Given the description of an element on the screen output the (x, y) to click on. 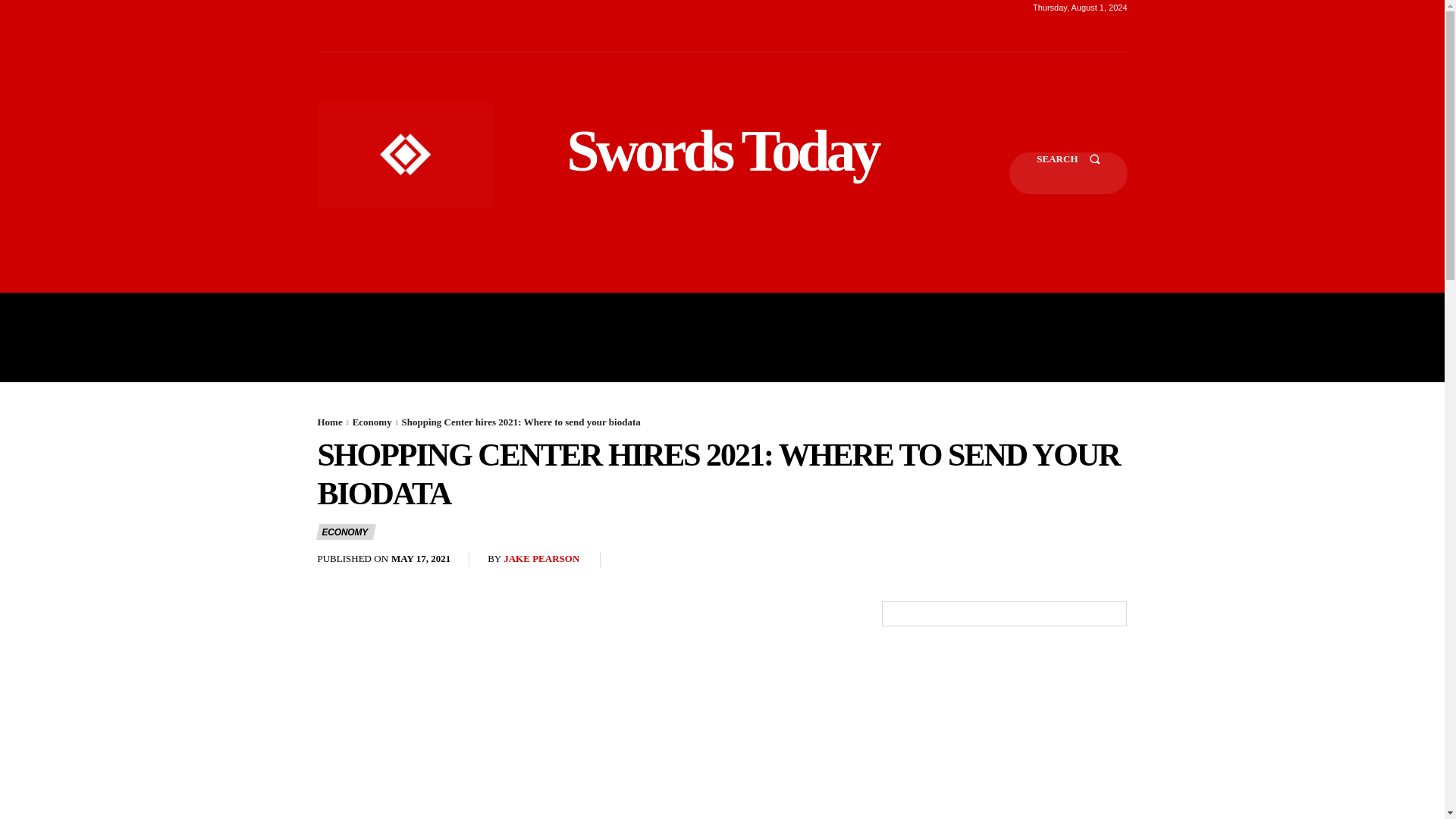
Home (329, 421)
Economy (371, 421)
SEARCH (1067, 173)
JAKE PEARSON (541, 558)
Search (1067, 173)
Swords Today (722, 149)
ECONOMY (345, 531)
View all posts in Economy (371, 421)
